Given the description of an element on the screen output the (x, y) to click on. 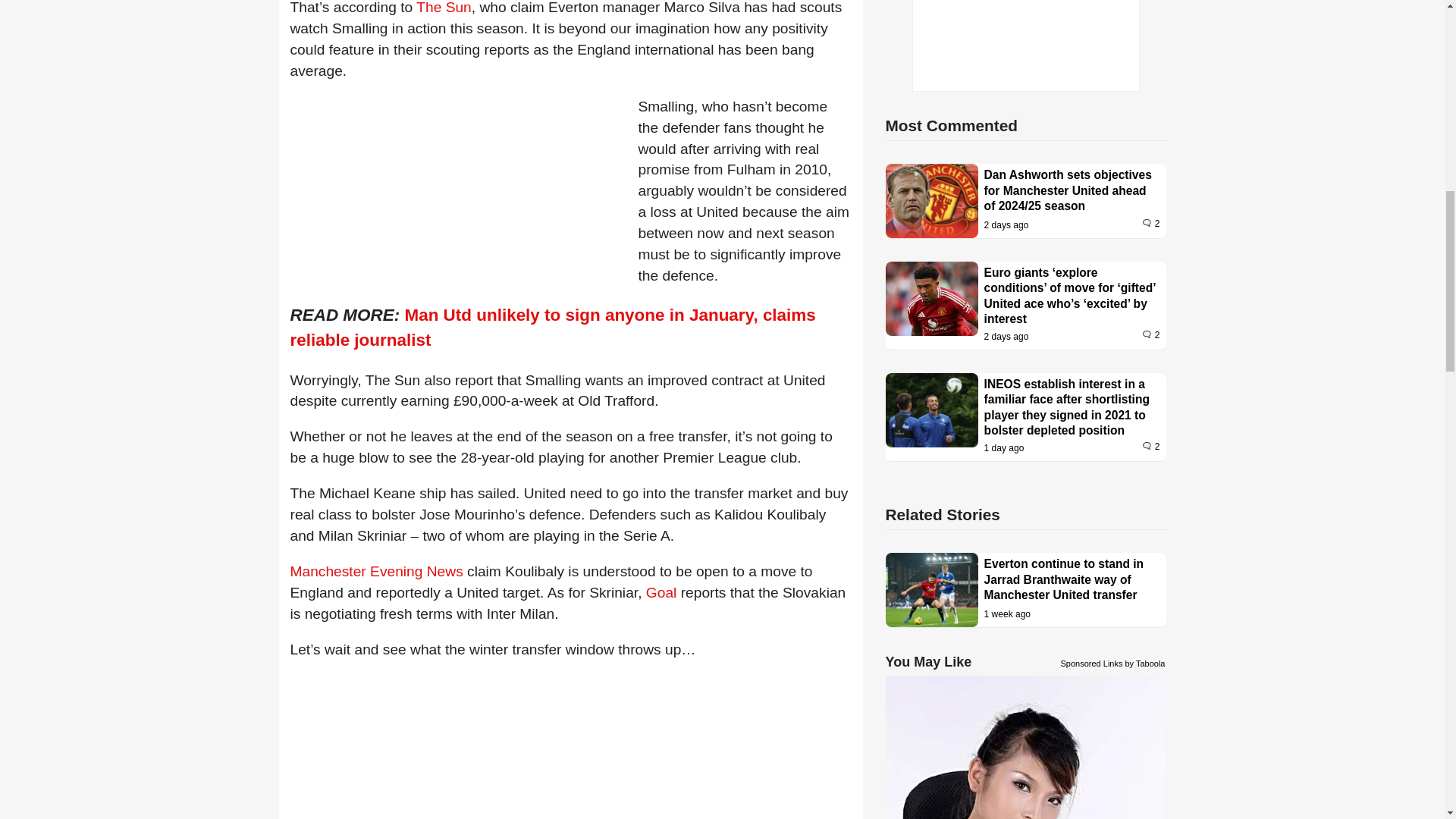
Manchester Evening News (376, 571)
The Sun (443, 7)
Goal (661, 592)
